Given the description of an element on the screen output the (x, y) to click on. 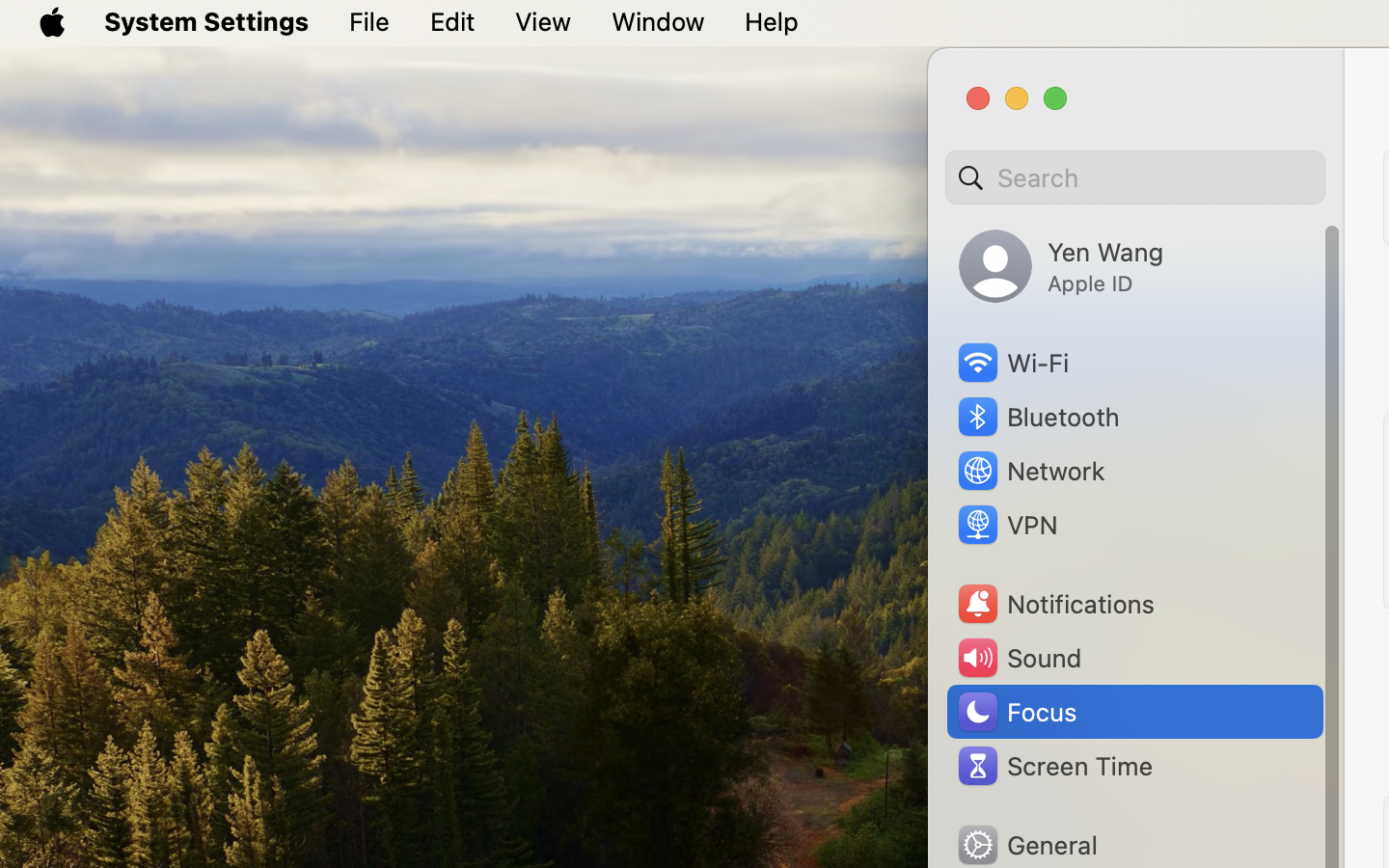
Notifications Element type: AXStaticText (1054, 603)
Sound Element type: AXStaticText (1018, 657)
Yen Wang, Apple ID Element type: AXStaticText (1060, 265)
General Element type: AXStaticText (1025, 844)
Focus Element type: AXStaticText (1015, 711)
